Given the description of an element on the screen output the (x, y) to click on. 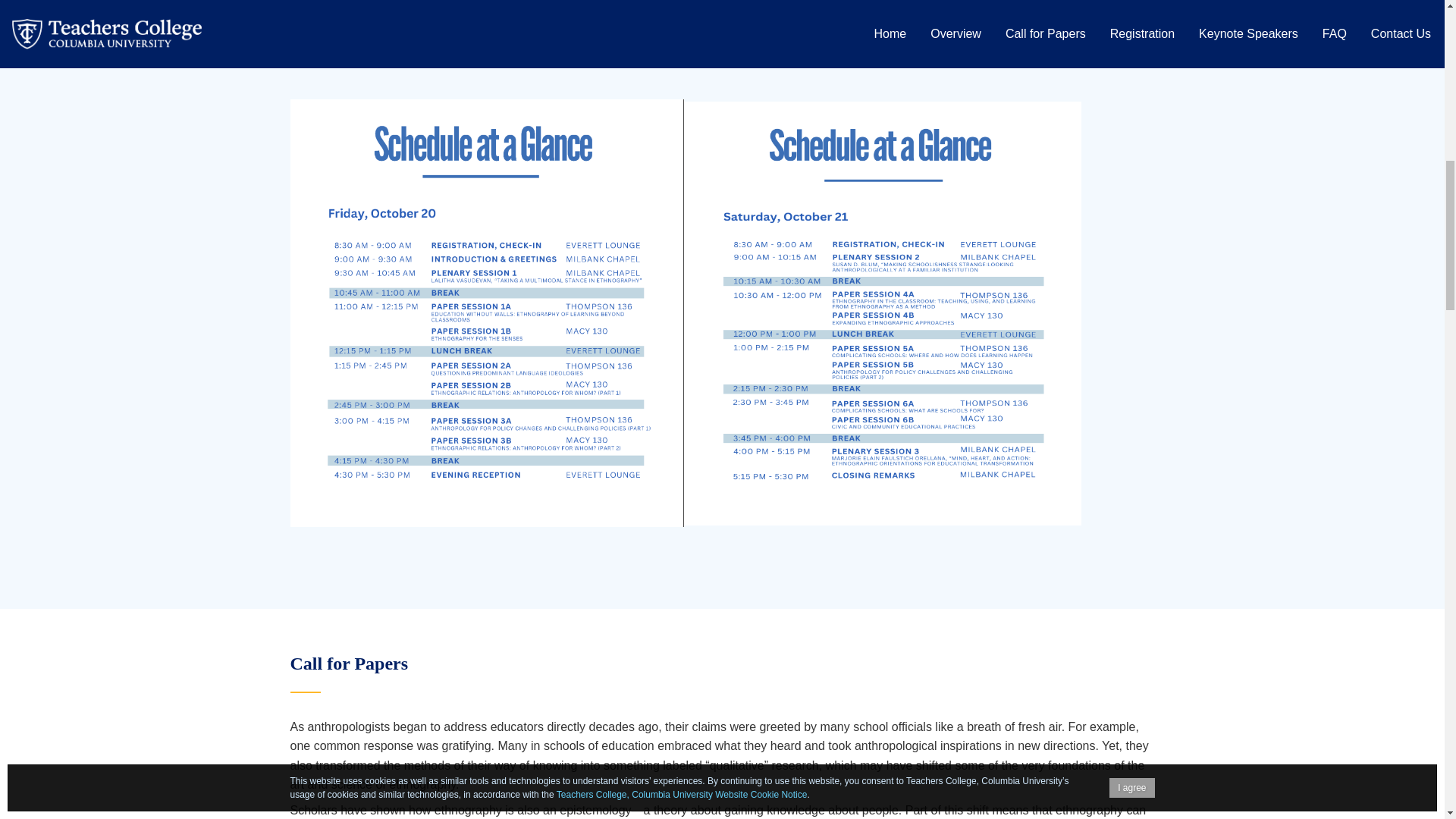
Conference Map (336, 57)
Schedule at a Glance (350, 6)
Paper Abstracts (335, 31)
